Given the description of an element on the screen output the (x, y) to click on. 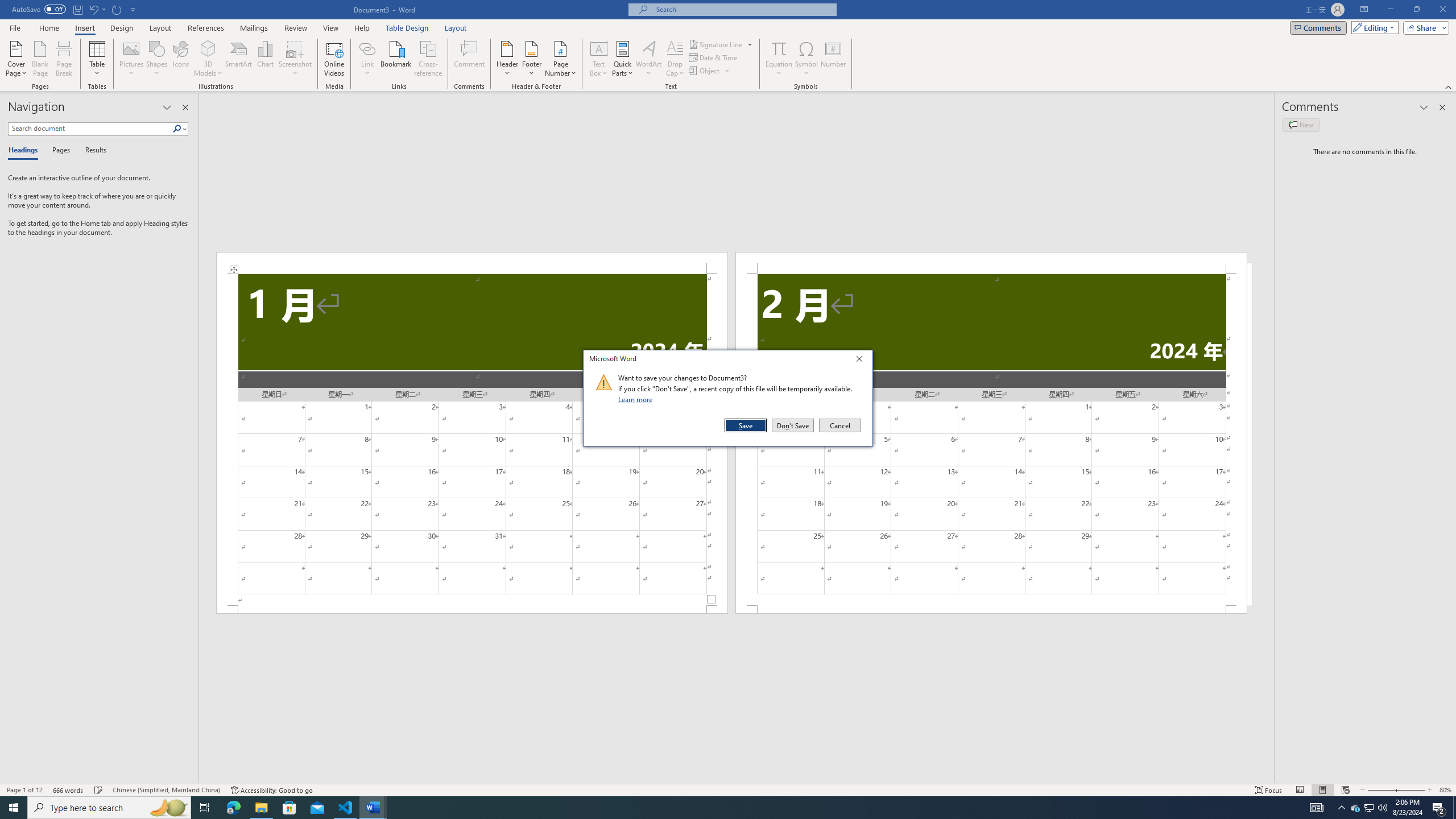
Page Break (63, 58)
Equation (778, 58)
Header (507, 58)
WordArt (648, 58)
